Given the description of an element on the screen output the (x, y) to click on. 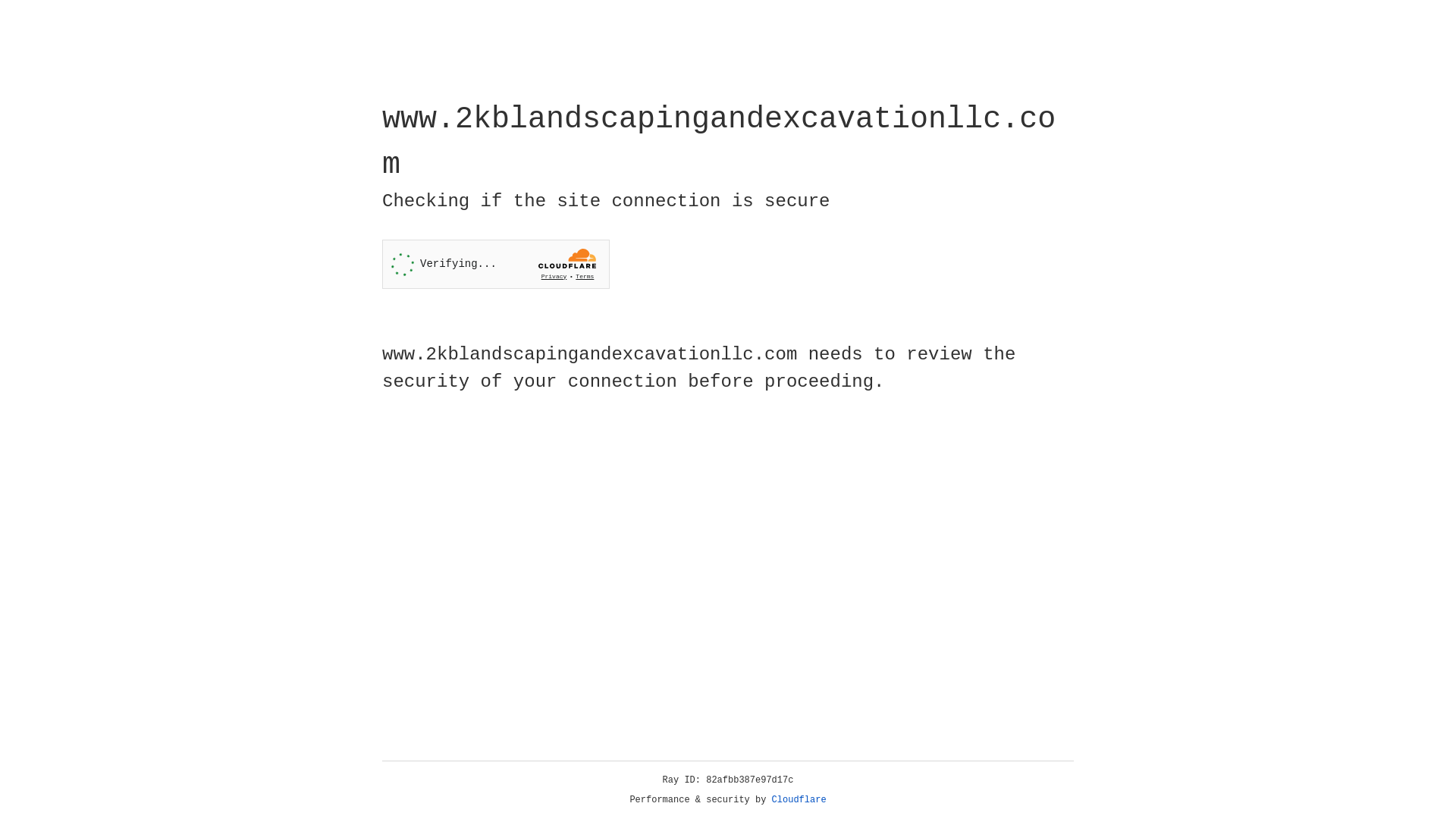
Cloudflare Element type: text (798, 799)
Widget containing a Cloudflare security challenge Element type: hover (495, 263)
